Given the description of an element on the screen output the (x, y) to click on. 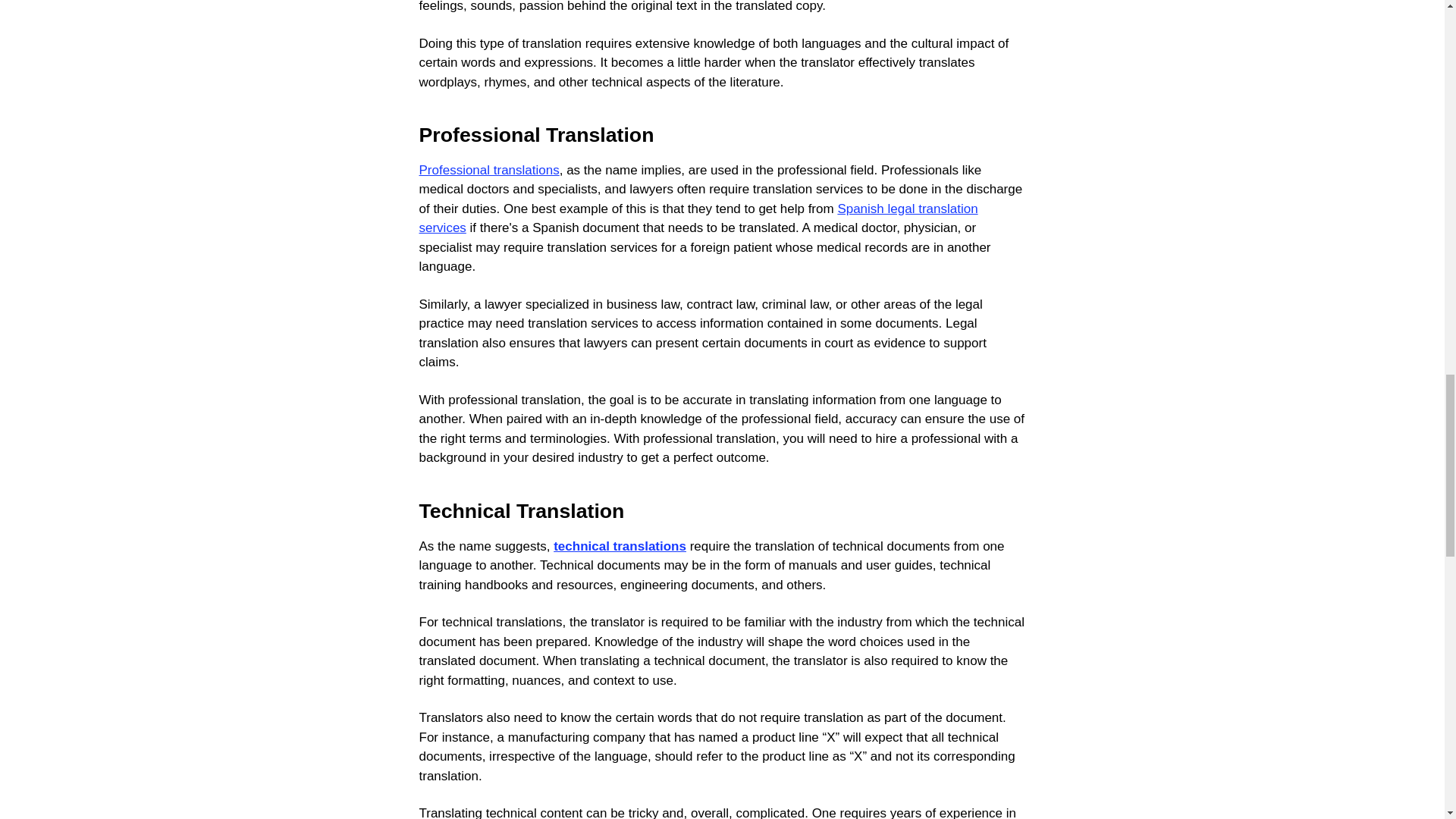
Professional translations (489, 169)
Spanish legal translation services (697, 218)
technical translations (619, 545)
